Given the description of an element on the screen output the (x, y) to click on. 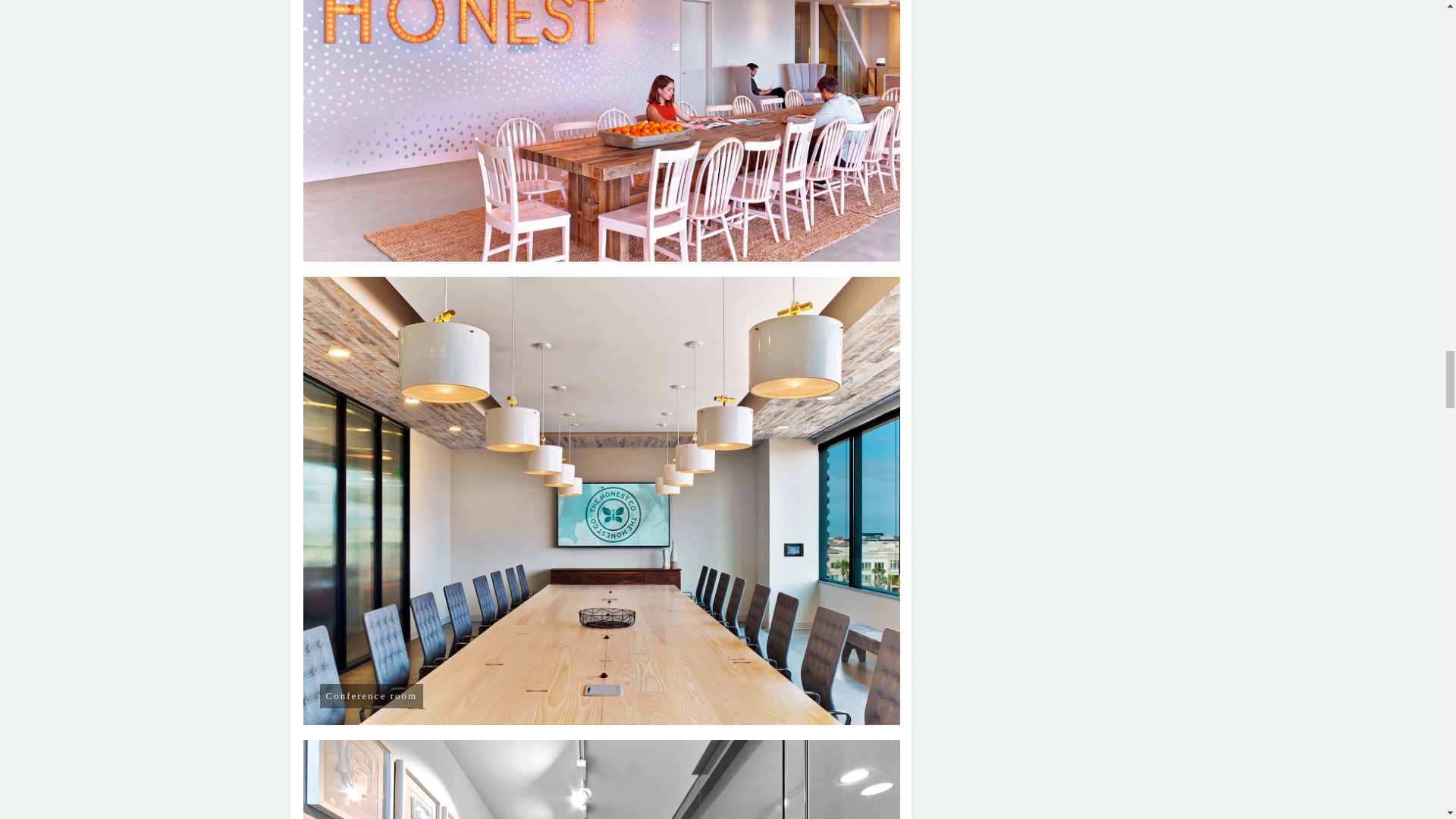
Meeting room (601, 779)
